Given the description of an element on the screen output the (x, y) to click on. 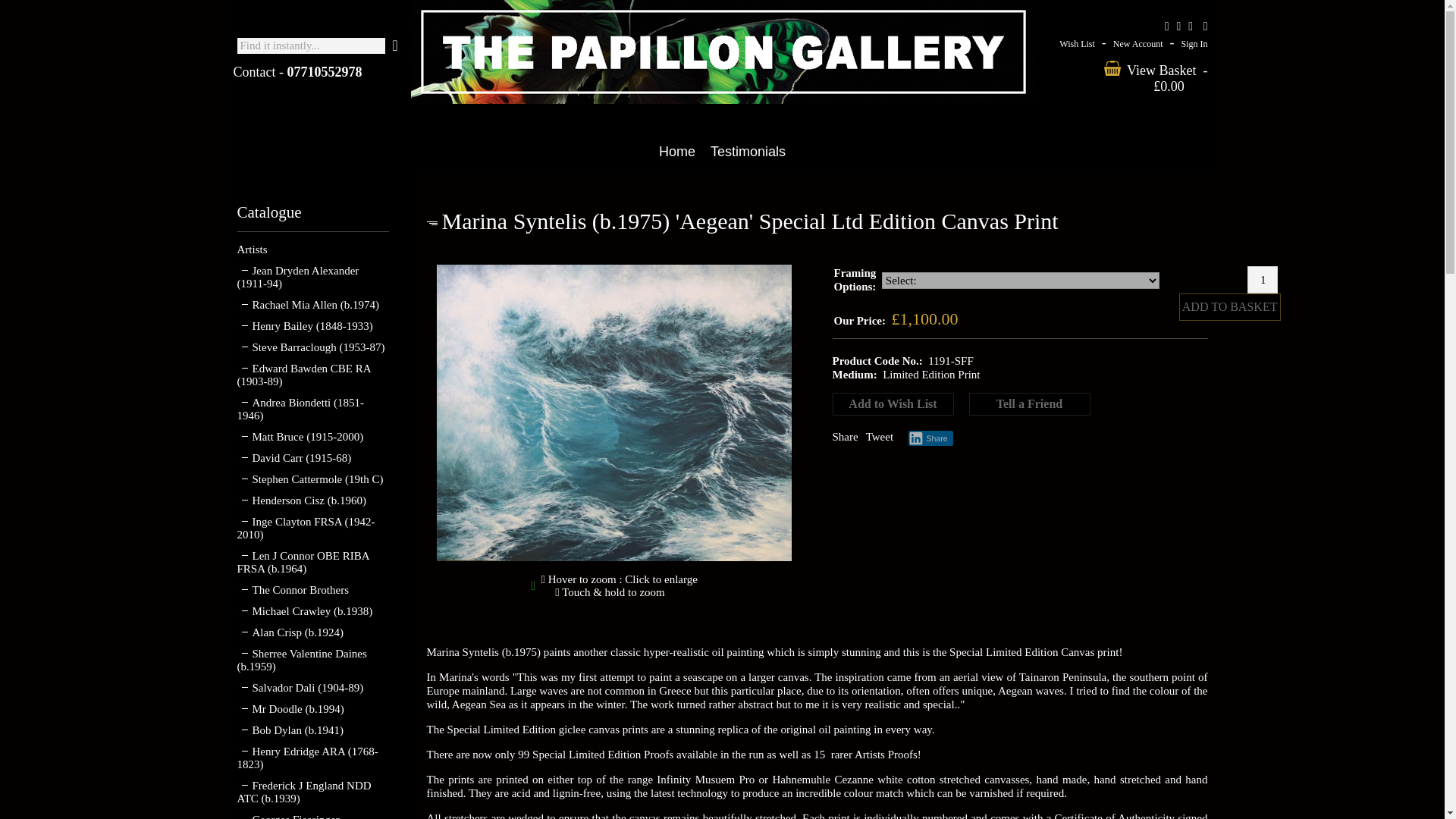
Georges Fiessinger (287, 816)
Artists (250, 249)
The Connor Brothers (291, 589)
1 (1262, 279)
